Given the description of an element on the screen output the (x, y) to click on. 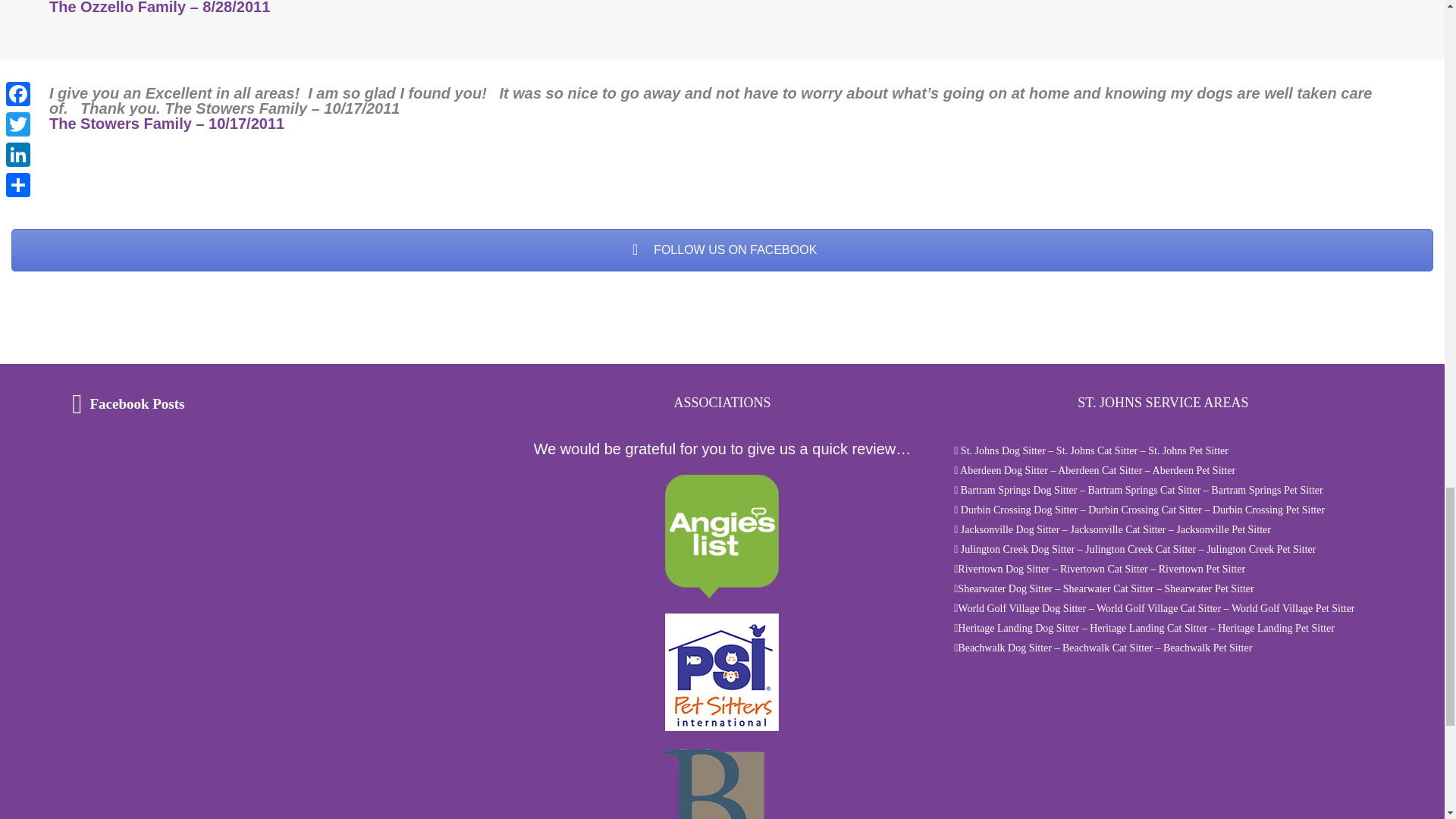
Likebox Iframe (166, 504)
FOLLOW US ON FACEBOOK (721, 250)
